Given the description of an element on the screen output the (x, y) to click on. 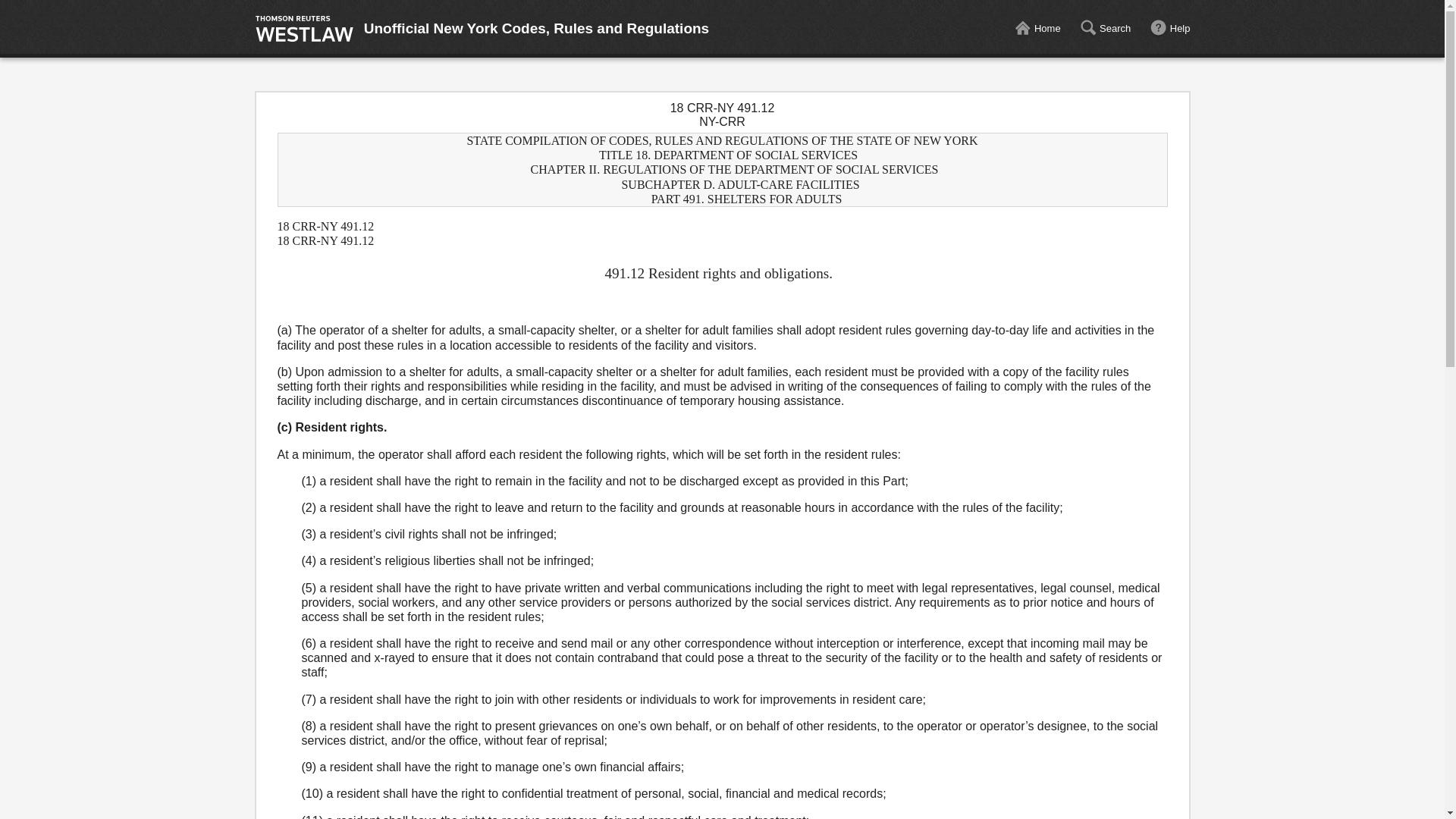
Help (1170, 28)
Unofficial New York Codes, Rules and Regulations (536, 28)
Search (1104, 28)
Thomson Reuters Westlaw (303, 28)
Home (1037, 28)
